Given the description of an element on the screen output the (x, y) to click on. 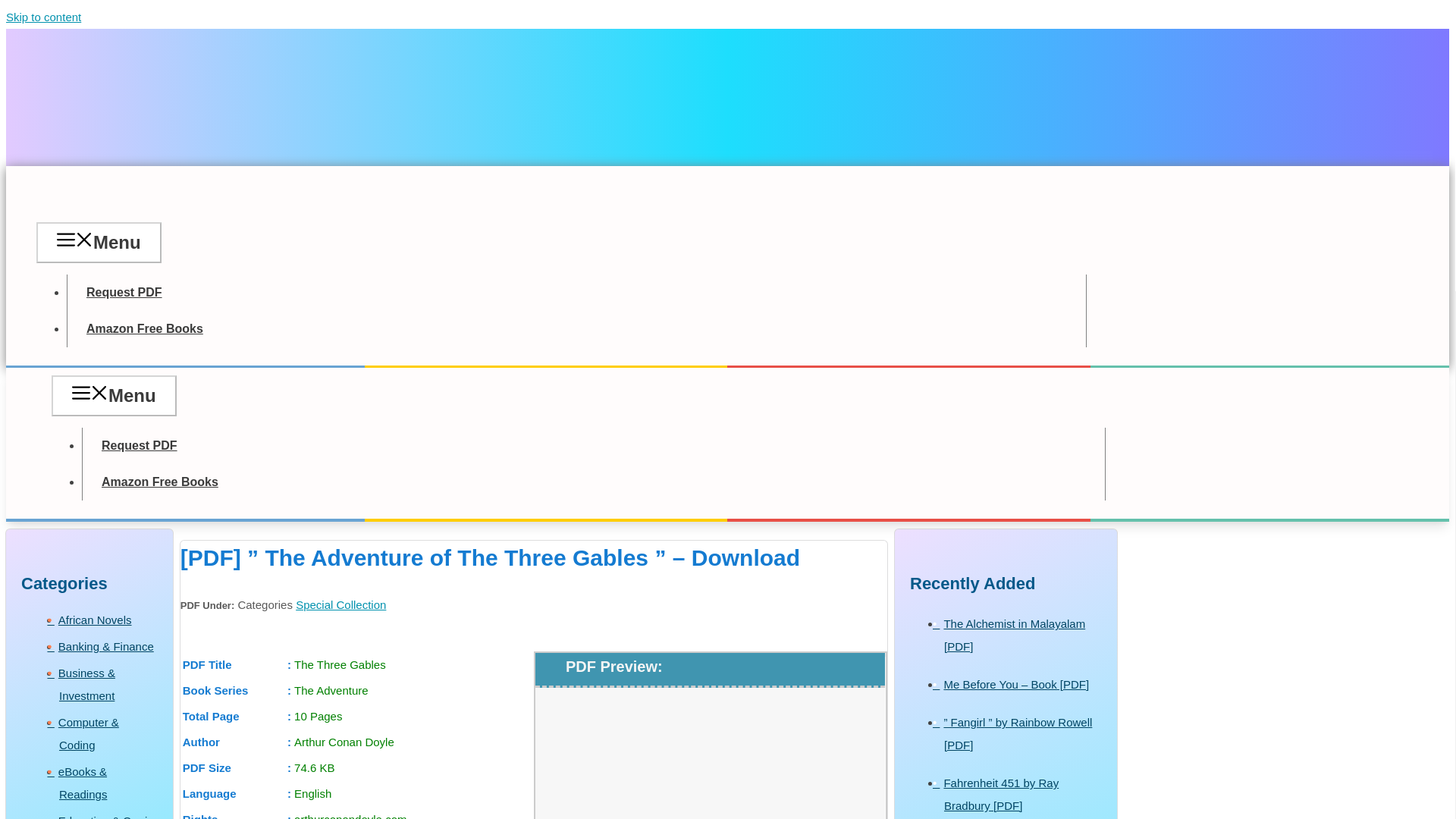
Size in MB (357, 767)
PDF Name (357, 664)
Category:  (94, 619)
Skip to content (43, 16)
Amazon Free Books (144, 327)
Menu (98, 241)
Amazon Free Books (159, 481)
PDF Book Rights (357, 813)
African Novels (94, 619)
PDF Preview (710, 768)
